Given the description of an element on the screen output the (x, y) to click on. 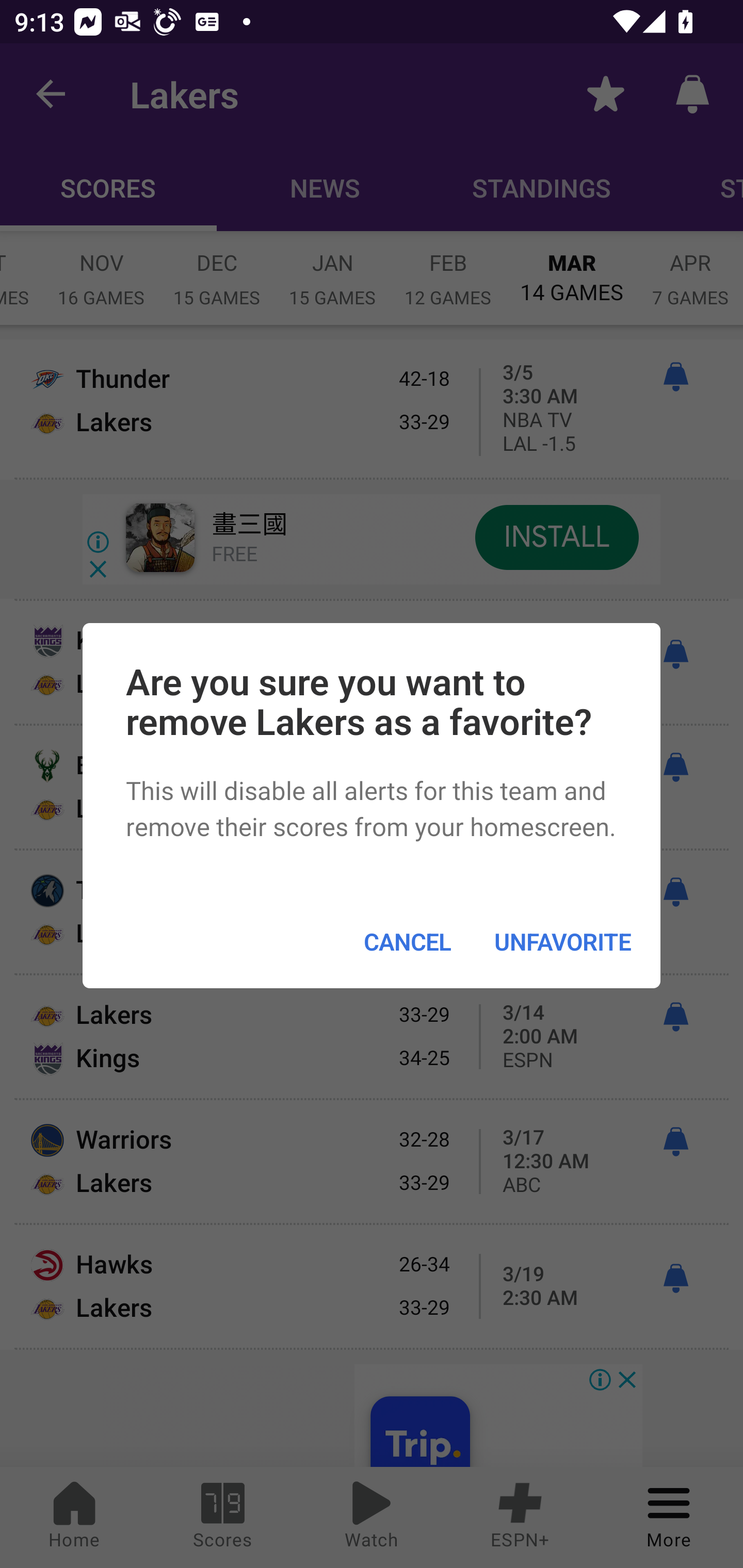
CANCEL (407, 941)
UNFAVORITE (562, 941)
